Given the description of an element on the screen output the (x, y) to click on. 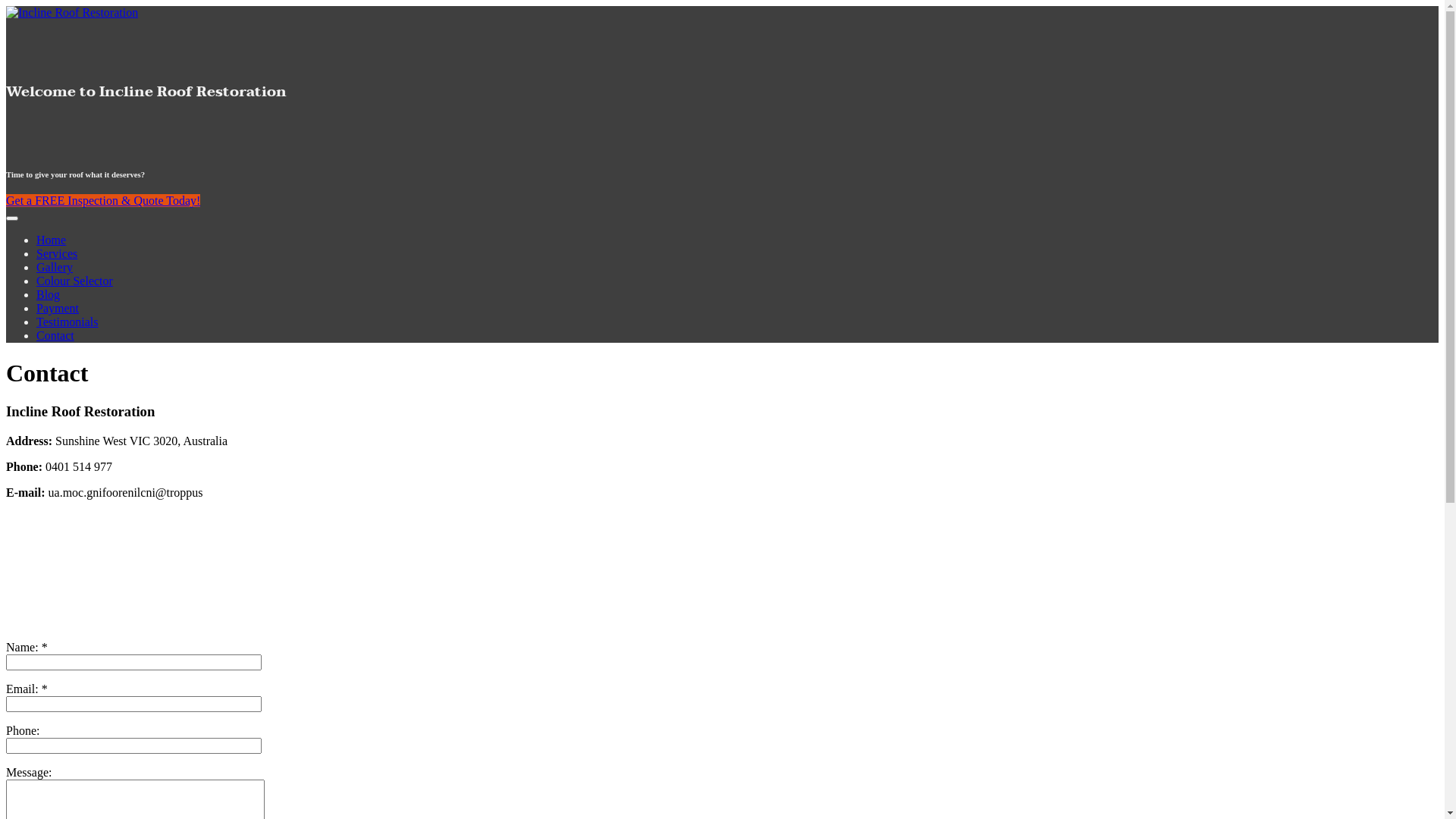
Services Element type: text (56, 253)
Menu Element type: hover (12, 218)
Home Element type: text (50, 239)
Contact Element type: text (55, 335)
Colour Selector Element type: text (74, 280)
Gallery Element type: text (54, 266)
Payment Element type: text (57, 307)
Blog Element type: text (47, 294)
Get a FREE Inspection & Quote Today! Element type: text (103, 200)
Testimonials Element type: text (67, 321)
